Given the description of an element on the screen output the (x, y) to click on. 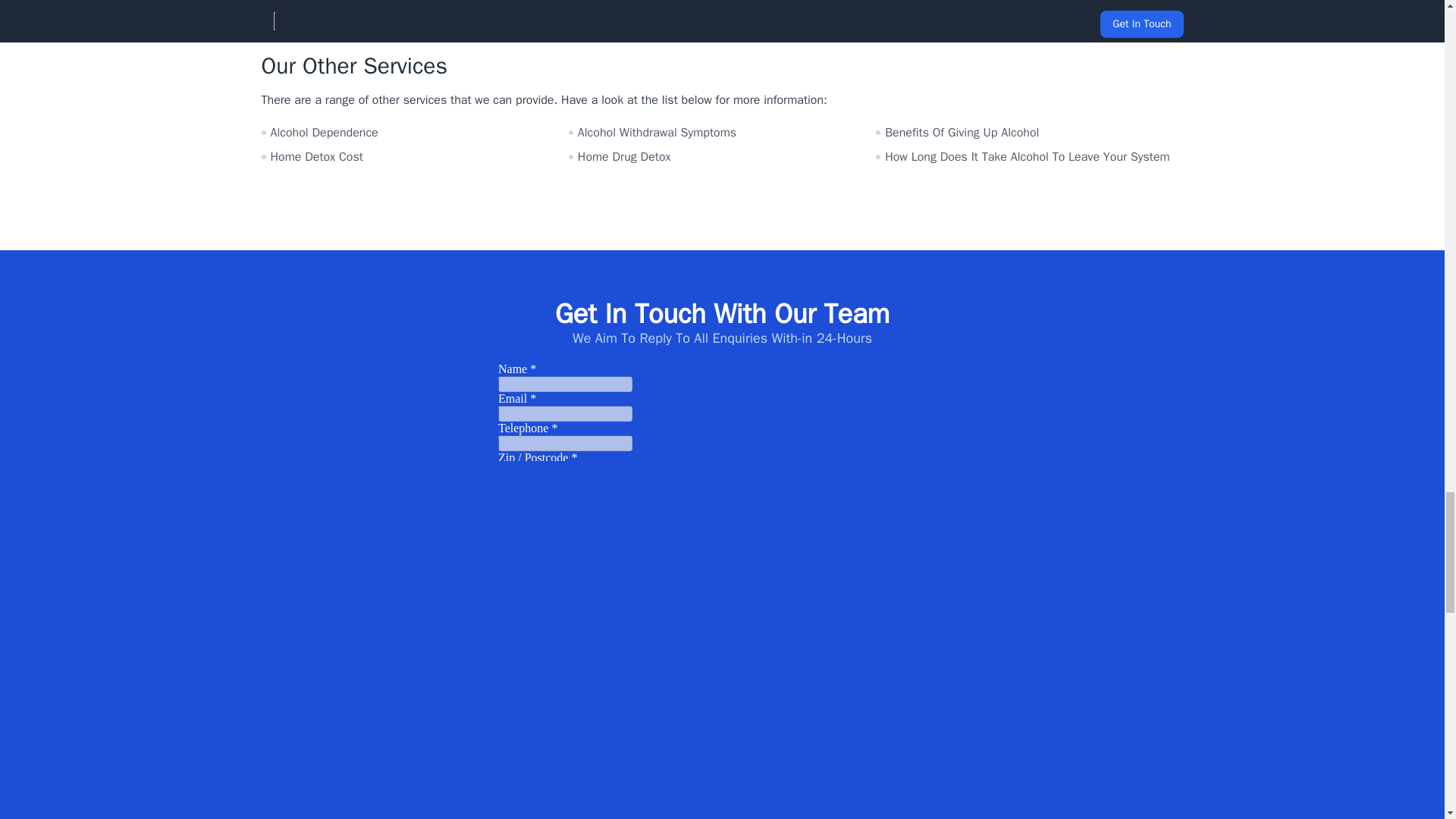
Home Detox Cost (413, 157)
Benefits Of Giving Up Alcohol (1029, 132)
Alcohol Withdrawal Symptoms (722, 132)
Home Drug Detox (722, 157)
Alcohol Dependence (413, 132)
How Long Does It Take Alcohol To Leave Your System (1029, 157)
